Given the description of an element on the screen output the (x, y) to click on. 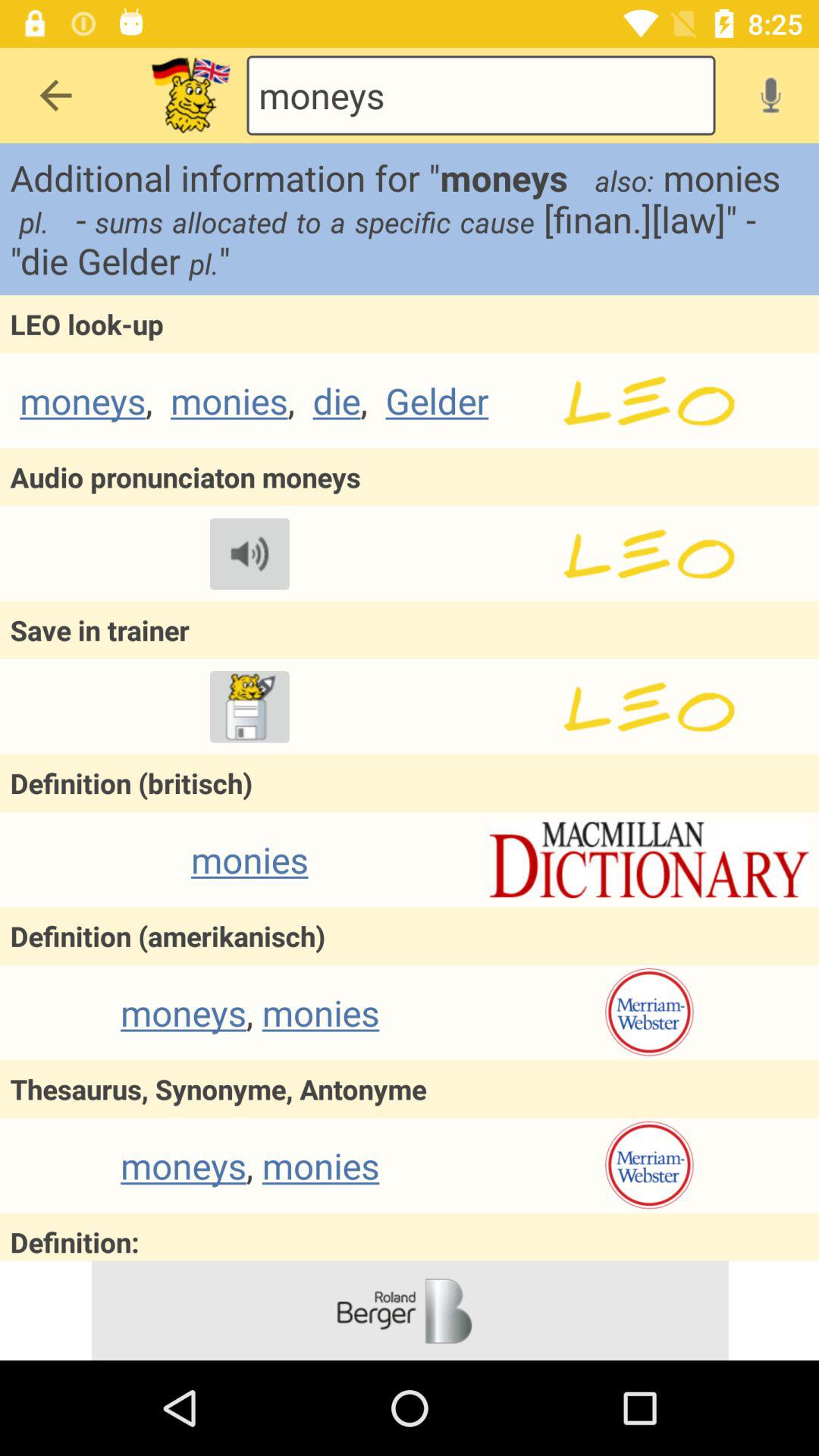
save word (249, 706)
